Given the description of an element on the screen output the (x, y) to click on. 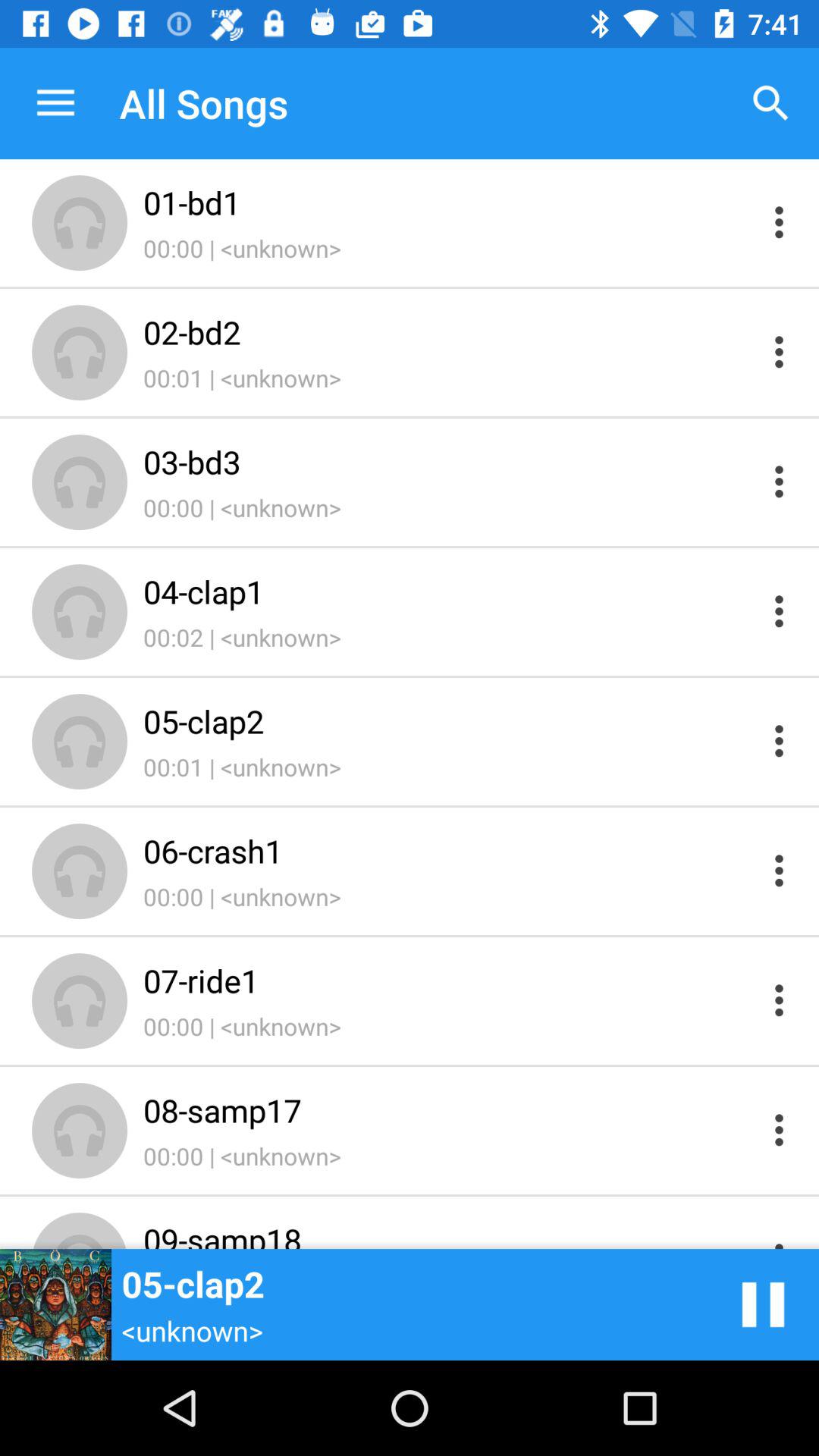
open more options (779, 740)
